Given the description of an element on the screen output the (x, y) to click on. 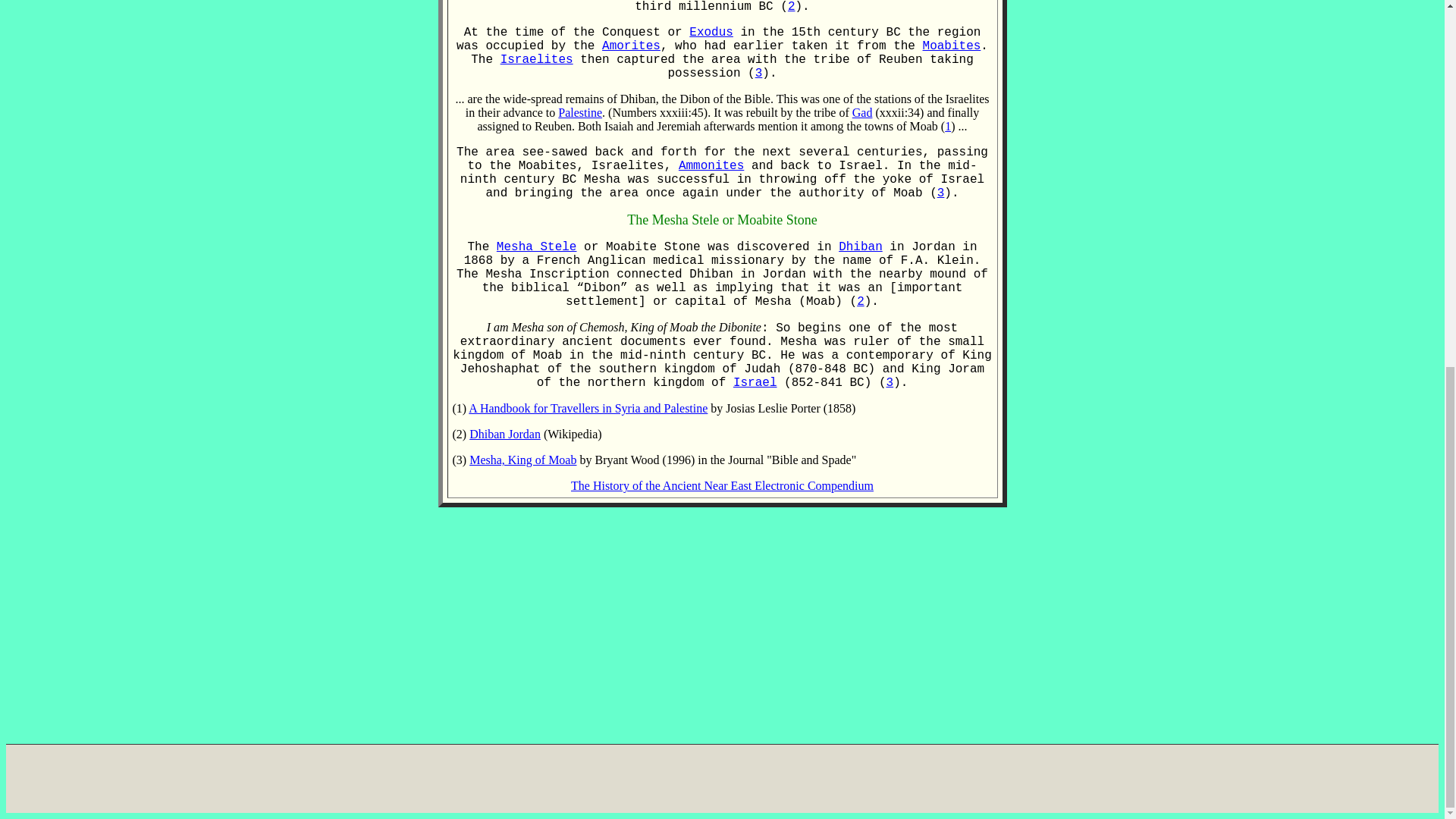
Mesha Stele (536, 246)
2 (790, 6)
Dhiban Jordan (504, 433)
2 (860, 301)
3 (940, 192)
Moabites (952, 46)
Israel (755, 382)
The History of the Ancient Near East Electronic Compendium (721, 485)
3 (758, 73)
Palestine (579, 112)
Mesha, King of Moab (522, 459)
1 (947, 125)
Gad (861, 112)
3 (889, 382)
A Handbook for Travellers in Syria and Palestine (587, 408)
